Given the description of an element on the screen output the (x, y) to click on. 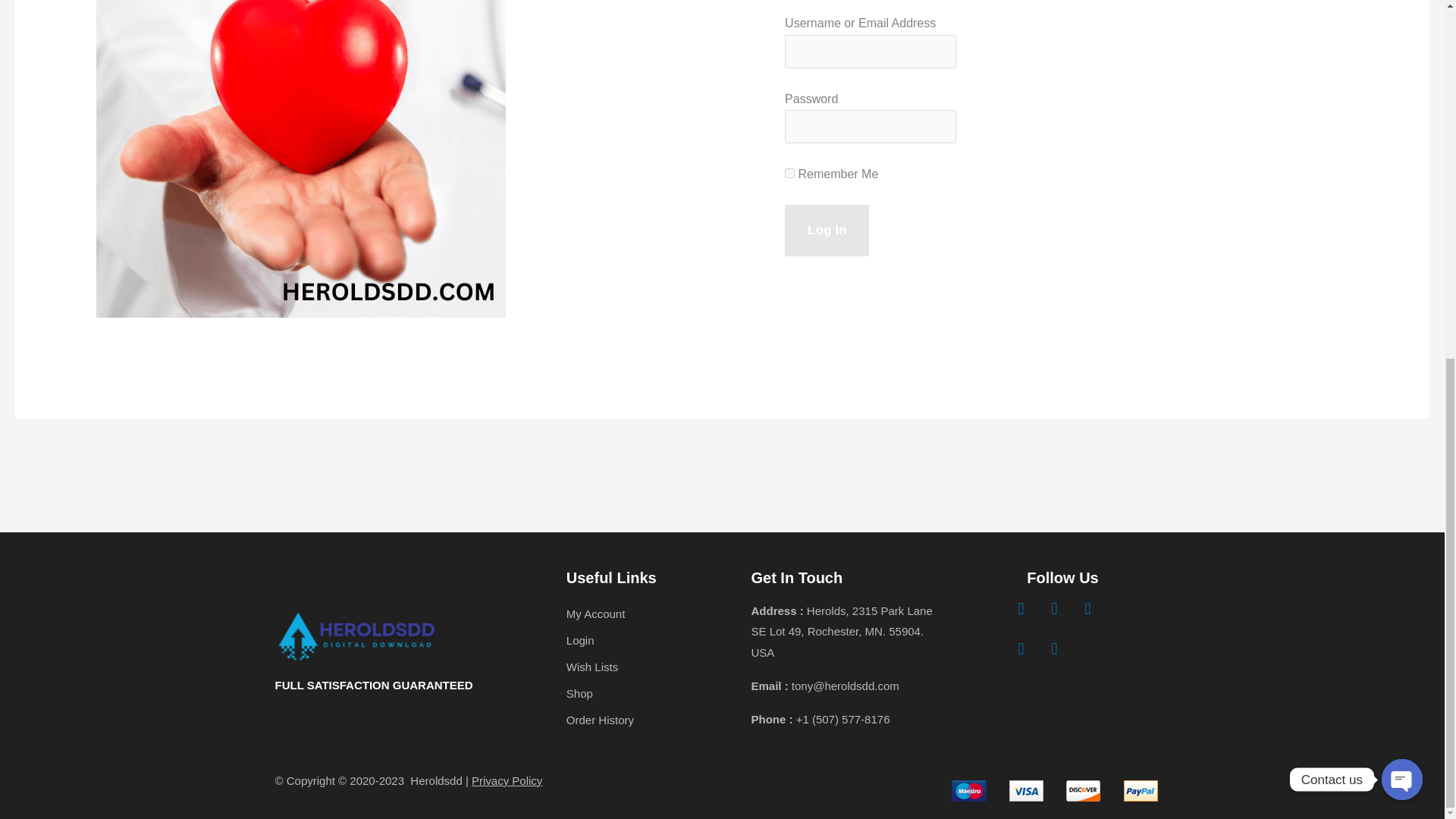
forever (789, 173)
Log In (826, 230)
Log In (826, 230)
